Given the description of an element on the screen output the (x, y) to click on. 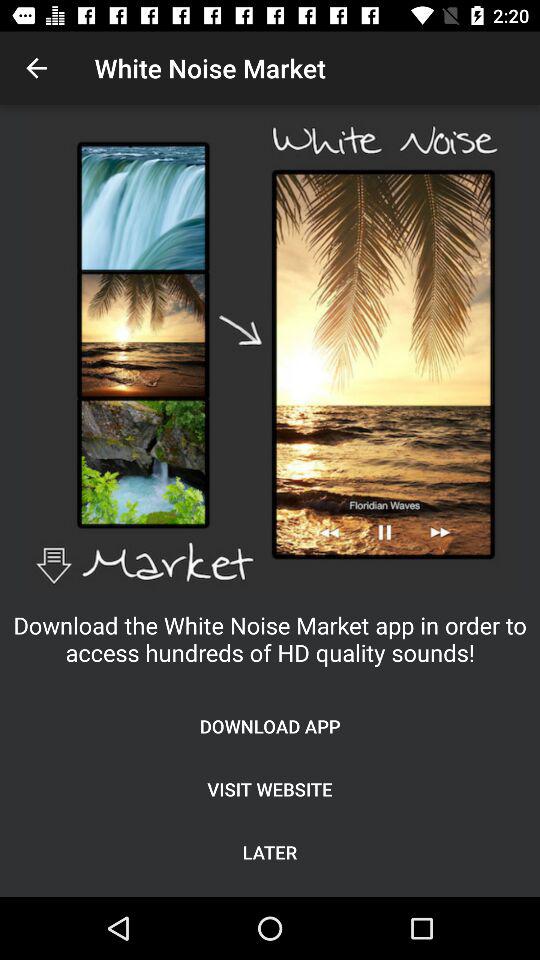
swipe until the later (269, 851)
